Given the description of an element on the screen output the (x, y) to click on. 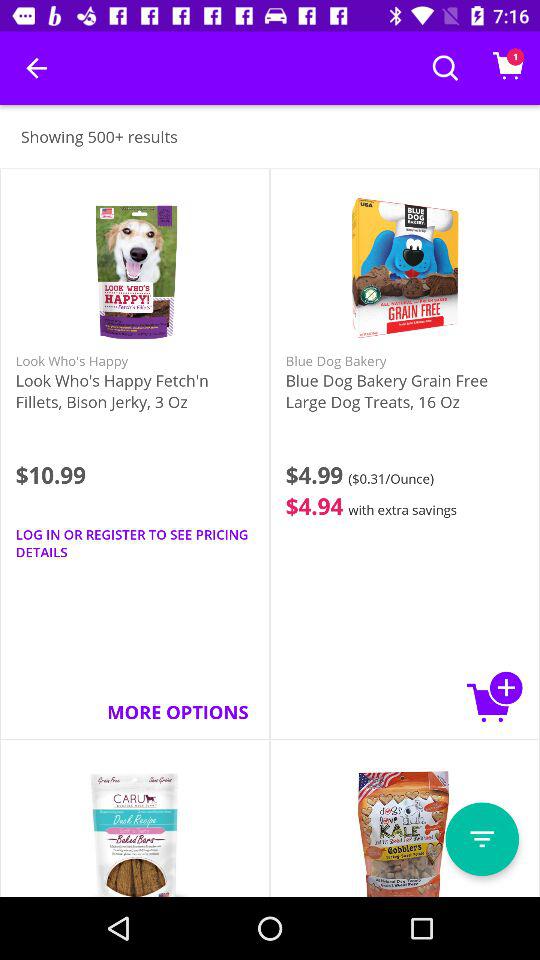
tap the item above the showing 500+ results (36, 68)
